Given the description of an element on the screen output the (x, y) to click on. 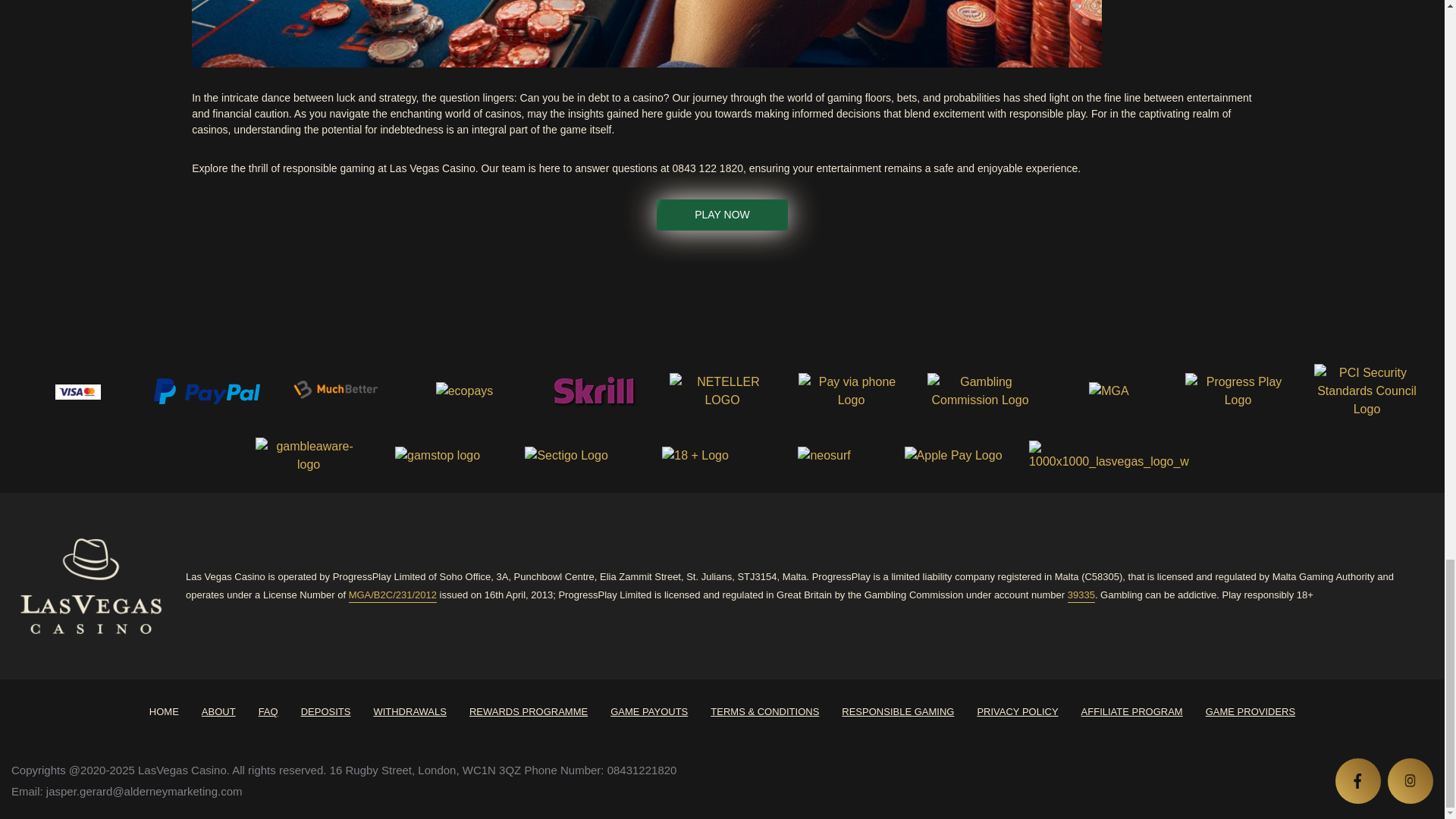
PLAY NOW (721, 214)
HOME (164, 711)
39335 (1080, 595)
client logos (464, 391)
client logos (335, 391)
client logos (77, 391)
client logos (721, 391)
client logos (593, 390)
client logos (205, 391)
client logos (850, 391)
